Given the description of an element on the screen output the (x, y) to click on. 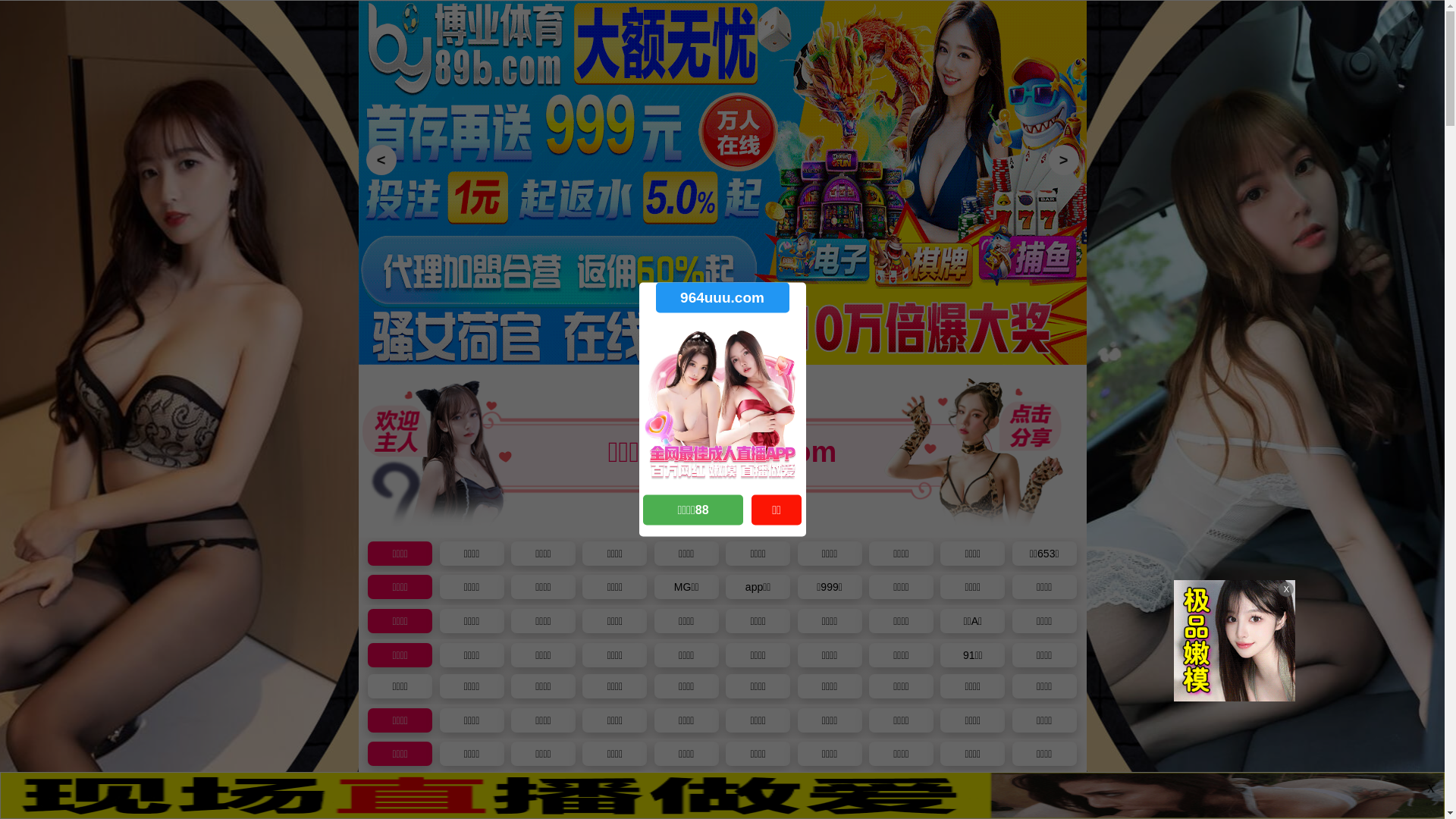
< Element type: text (380, 159)
> Element type: text (1063, 159)
964uuu.com Element type: text (721, 297)
X Element type: text (1430, 789)
